Given the description of an element on the screen output the (x, y) to click on. 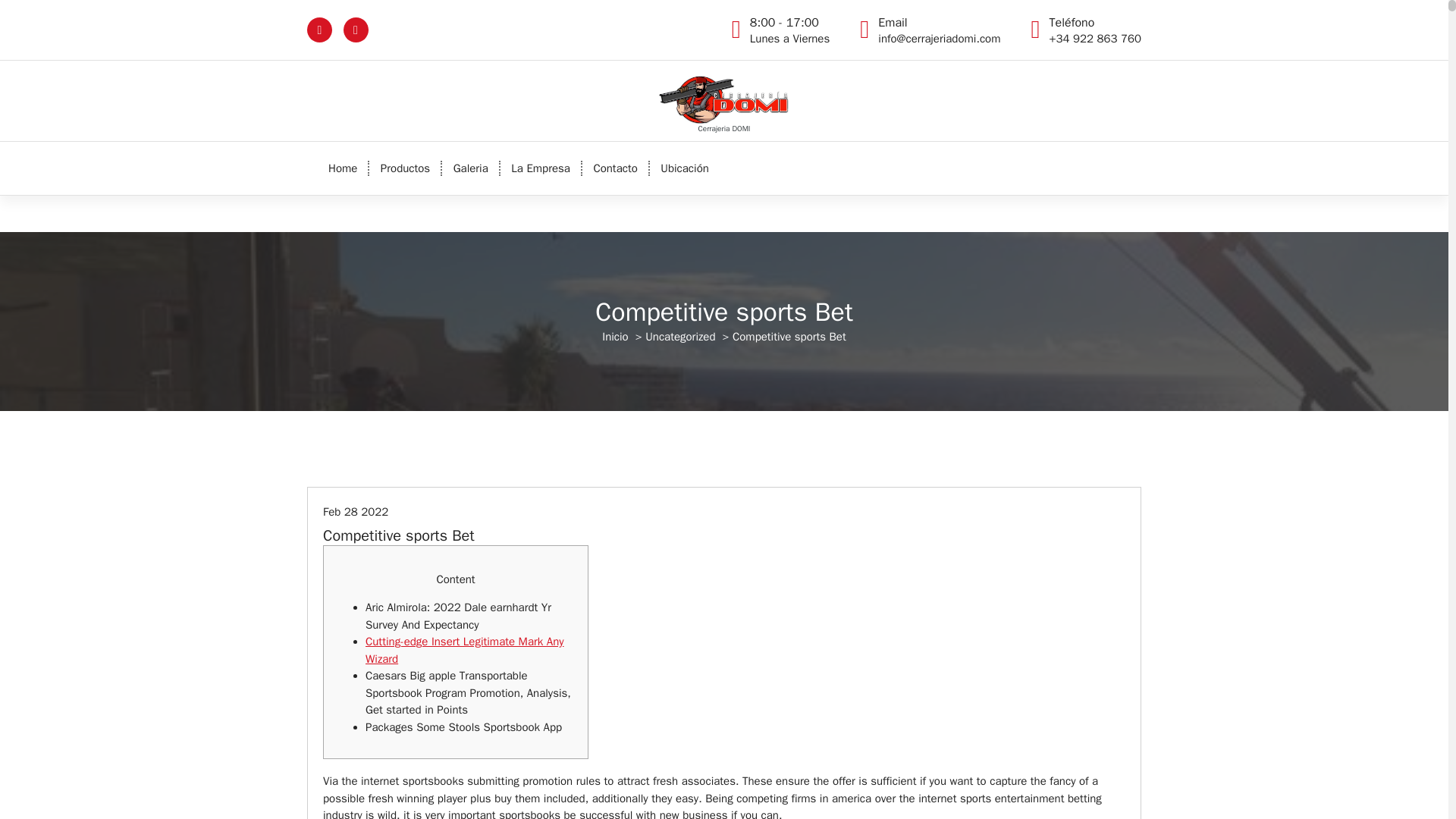
Uncategorized (679, 336)
La Empresa (540, 167)
La Empresa (540, 167)
Productos (405, 167)
Galeria (789, 30)
Home (470, 167)
Galeria (342, 167)
Productos (470, 167)
Feb 28 2022 (405, 167)
